Given the description of an element on the screen output the (x, y) to click on. 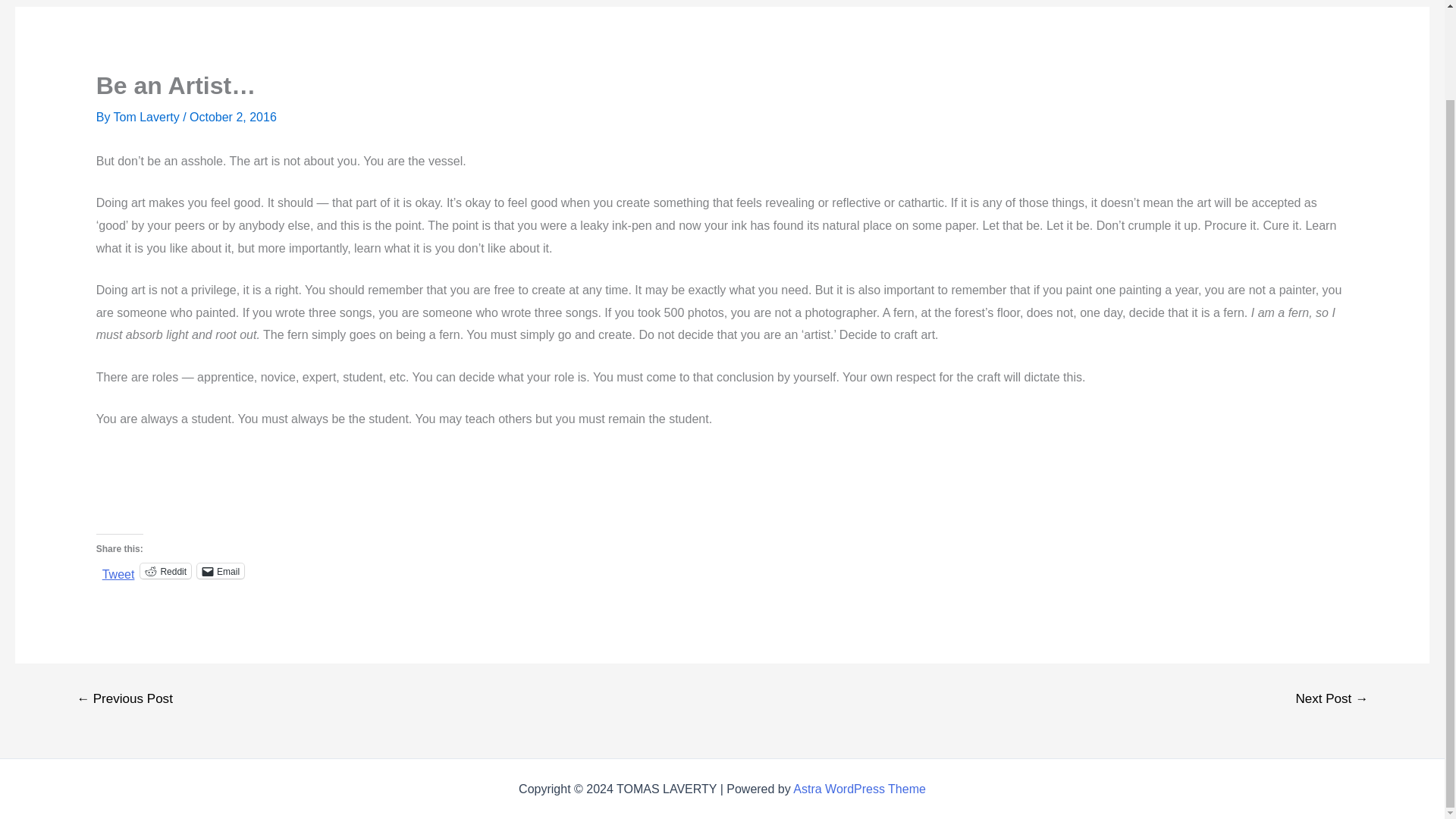
Tom Laverty (148, 116)
Reddit (164, 570)
View all posts by Tom Laverty (148, 116)
Tweet (118, 570)
Click to email a link to a friend (220, 570)
Click to share on Reddit (164, 570)
Astra WordPress Theme (859, 788)
Email (220, 570)
